Given the description of an element on the screen output the (x, y) to click on. 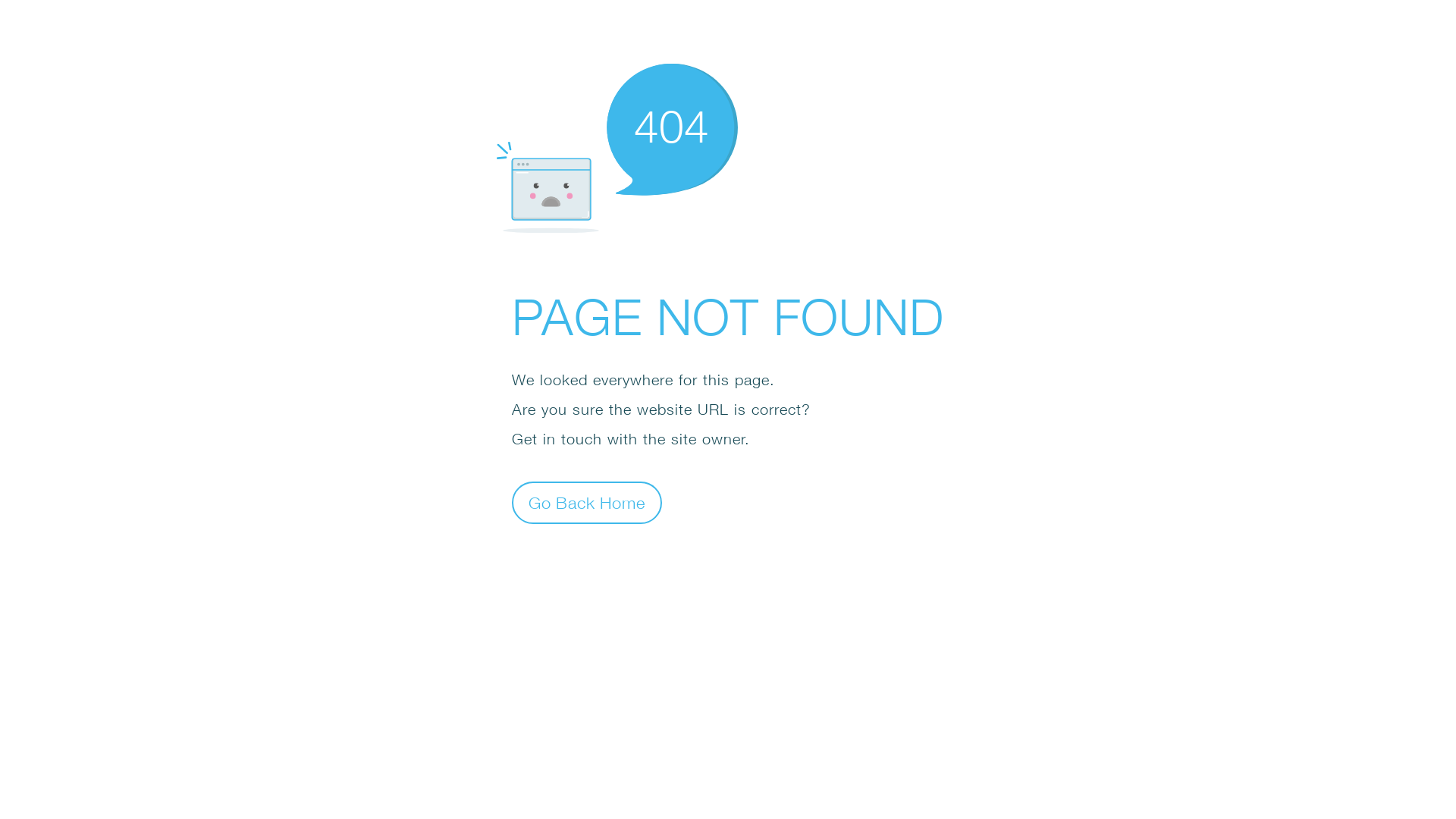
Go Back Home Element type: text (586, 502)
